Given the description of an element on the screen output the (x, y) to click on. 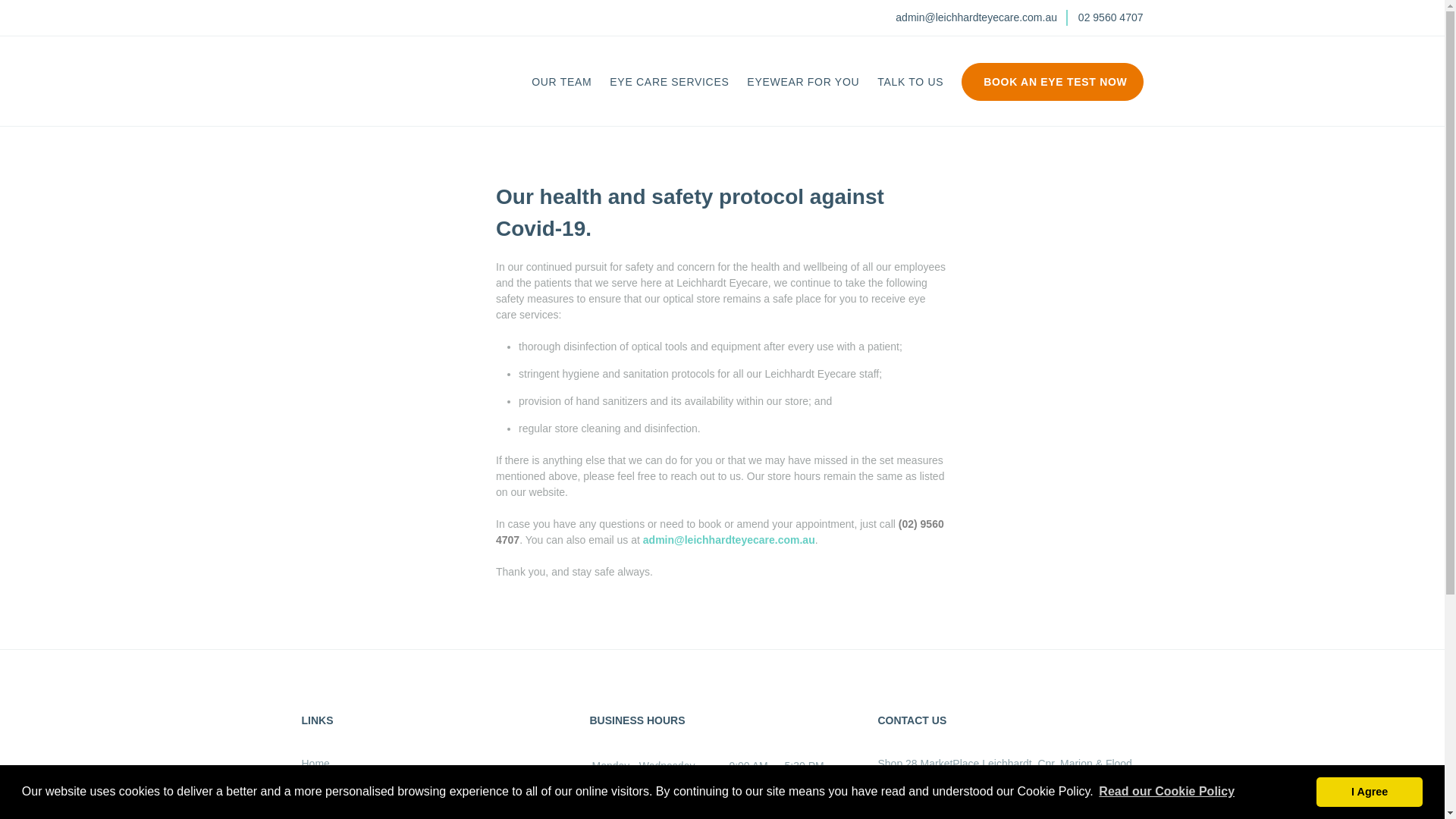
admin@leichhardteyecare.com.au Element type: text (729, 539)
Leichhardt Eyecare Element type: text (392, 117)
admin@leichhardteyecare.com.au Element type: text (976, 17)
TALK TO US Element type: text (910, 82)
EYE CARE SERVICES Element type: text (668, 82)
02 9560 4707 Element type: text (1110, 17)
Read our Cookie Policy Element type: text (1166, 791)
EYEWEAR FOR YOU Element type: text (802, 82)
Our Team Element type: text (324, 795)
BOOK AN EYE TEST NOW Element type: text (1051, 89)
Home Element type: text (315, 763)
OUR TEAM Element type: text (561, 82)
I Agree Element type: text (1369, 791)
